Given the description of an element on the screen output the (x, y) to click on. 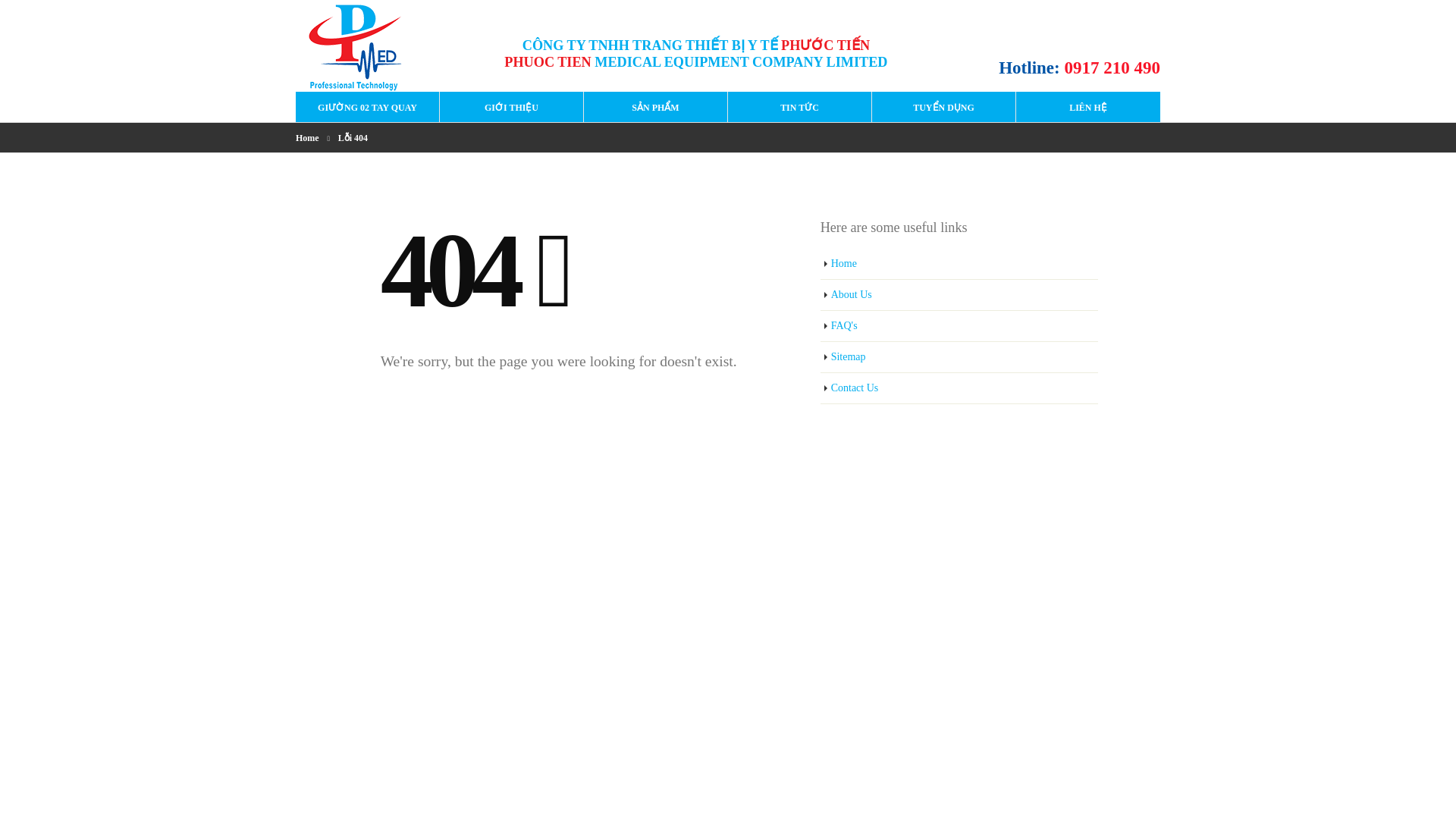
Sitemap (960, 357)
Home (960, 264)
About Us (960, 295)
Home (306, 137)
Contact Us (960, 388)
FAQ's (960, 326)
